Given the description of an element on the screen output the (x, y) to click on. 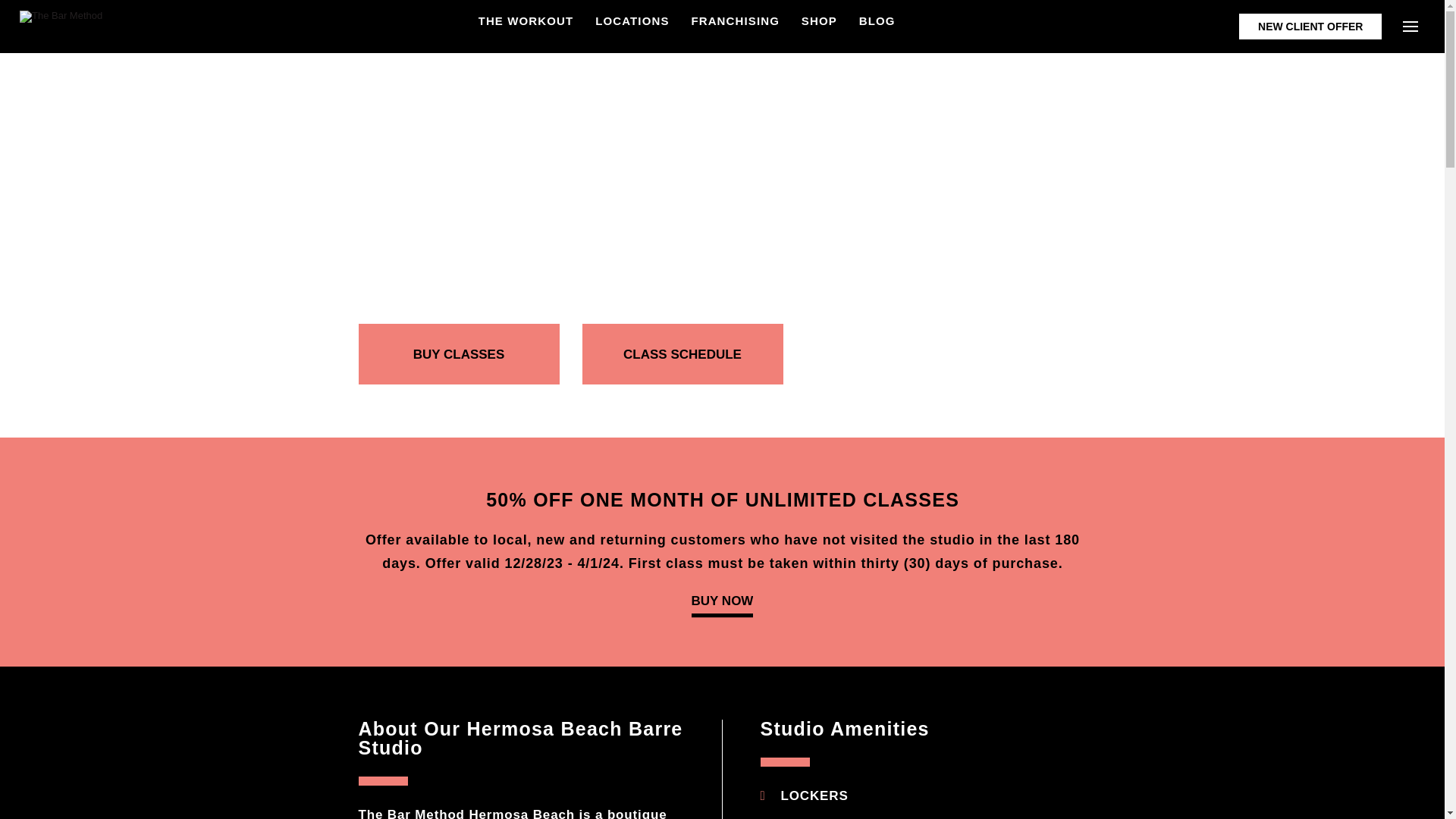
THE WORKOUT (526, 20)
CLASS SCHEDULE (682, 353)
BUY CLASSES (458, 353)
LOCATIONS (631, 20)
NEW CLIENT OFFER (1310, 26)
SHOP (818, 20)
BLOG (877, 20)
310-376-3444 (521, 251)
FRANCHISING (733, 20)
BUY NOW (722, 603)
